Given the description of an element on the screen output the (x, y) to click on. 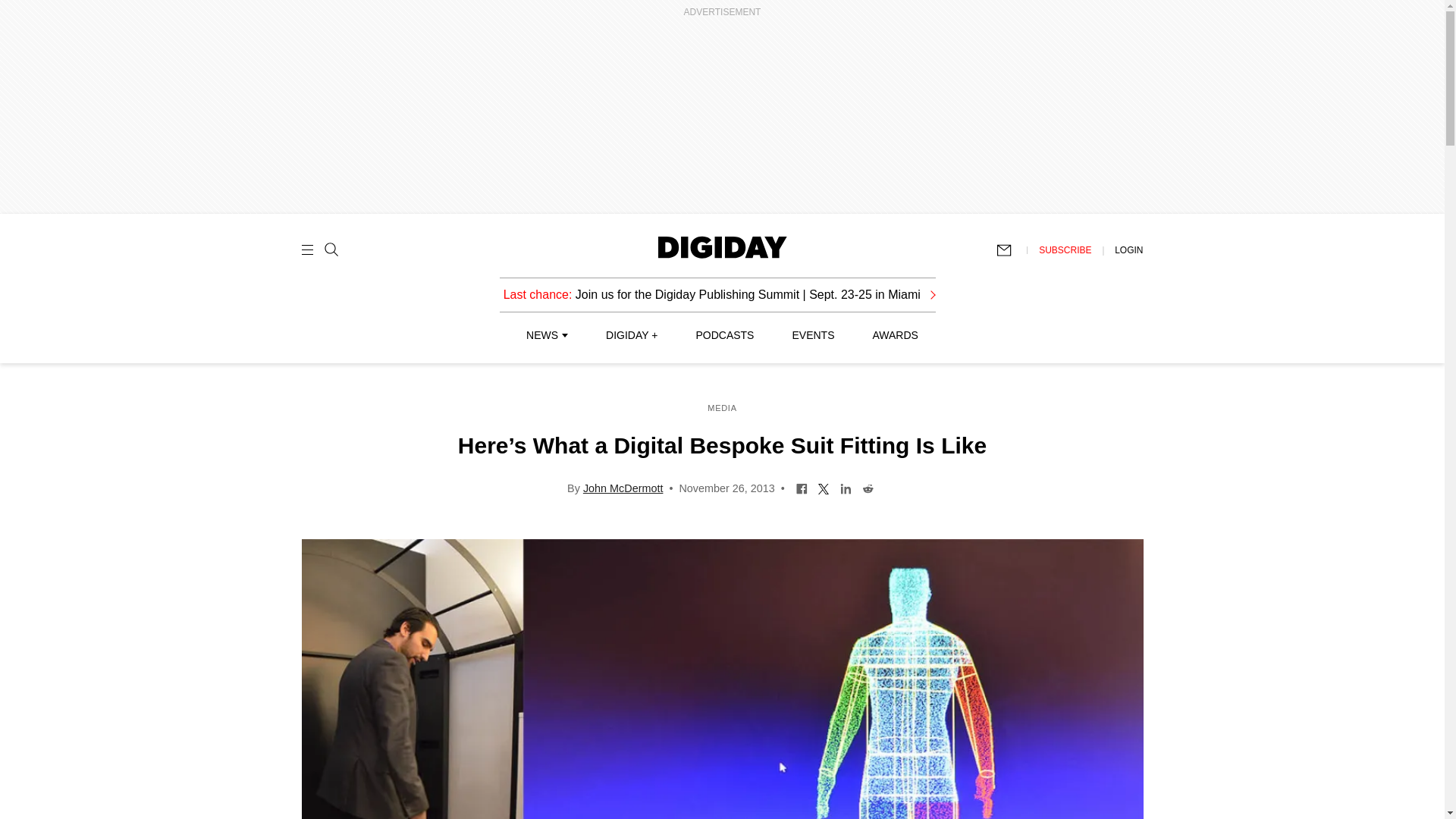
LOGIN (1128, 249)
Share on LinkedIn (845, 487)
EVENTS (813, 335)
SUBSCRIBE (1064, 249)
Share on Reddit (868, 487)
Share on Twitter (822, 487)
Subscribe (1010, 250)
PODCASTS (725, 335)
Share on Facebook (801, 487)
